Given the description of an element on the screen output the (x, y) to click on. 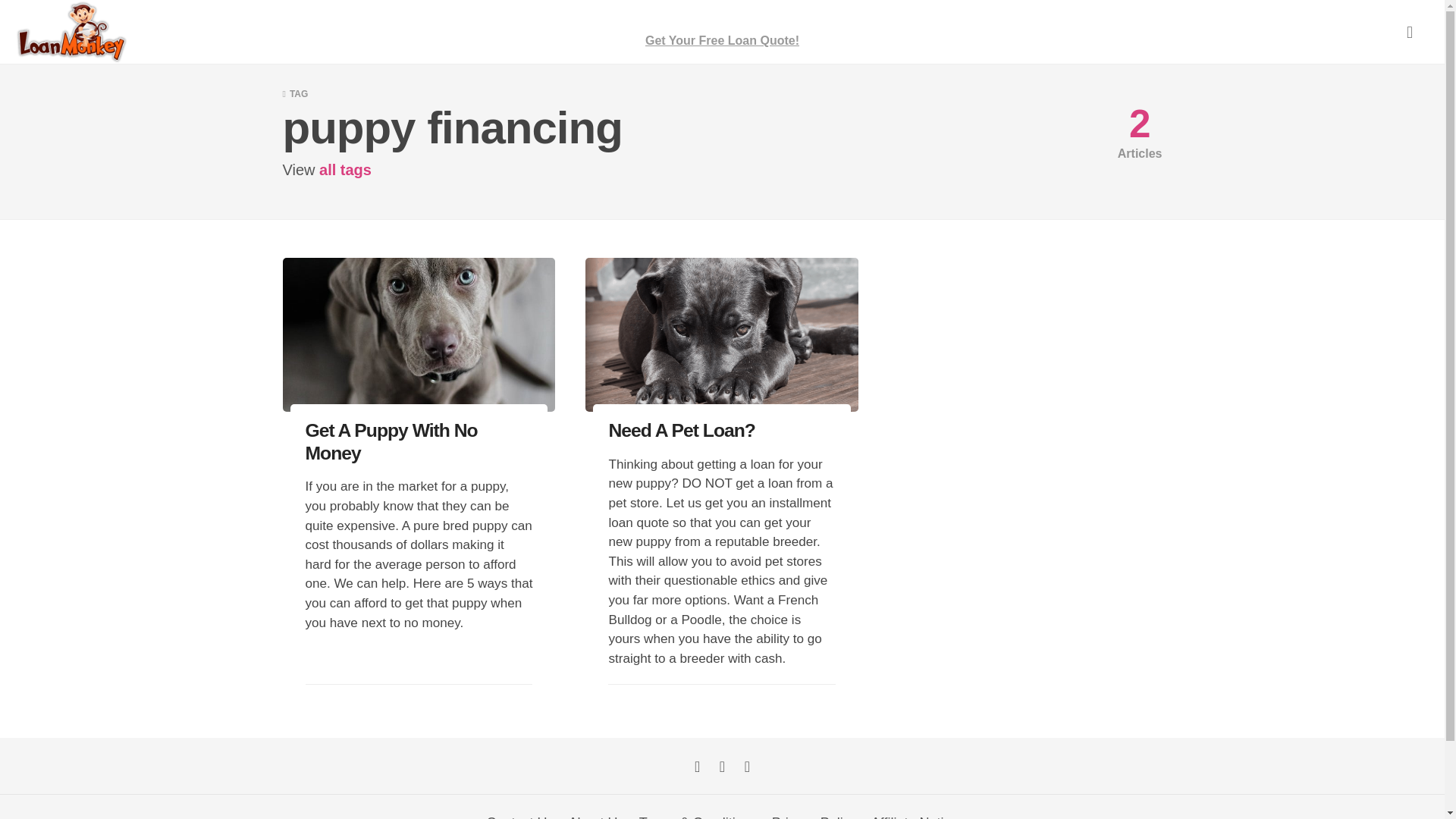
Contact Us (520, 816)
all tags (344, 170)
About Us (596, 816)
Privacy Policy (814, 816)
Affiliate Notice (914, 816)
Get Your Free Loan Quote! (722, 31)
